Given the description of an element on the screen output the (x, y) to click on. 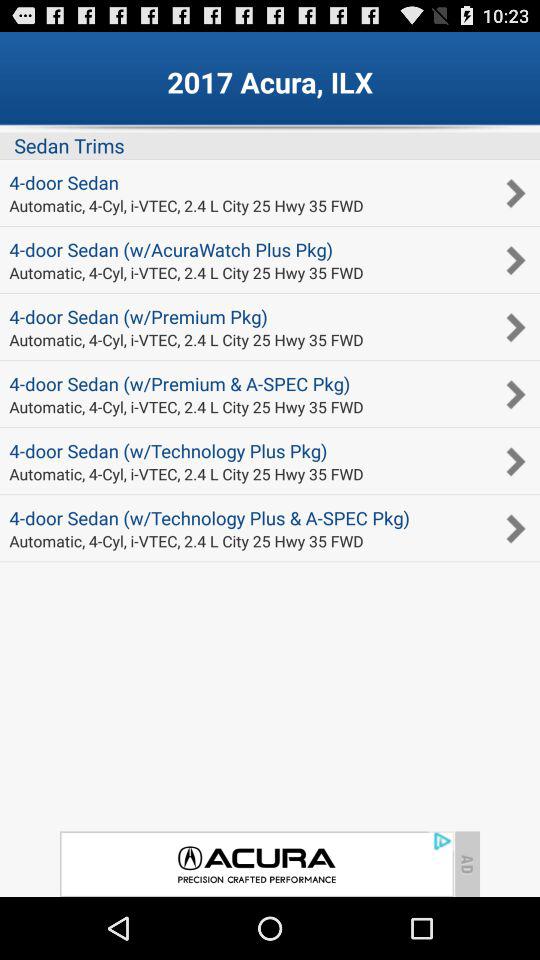
close pop up advertisement button (256, 864)
